Given the description of an element on the screen output the (x, y) to click on. 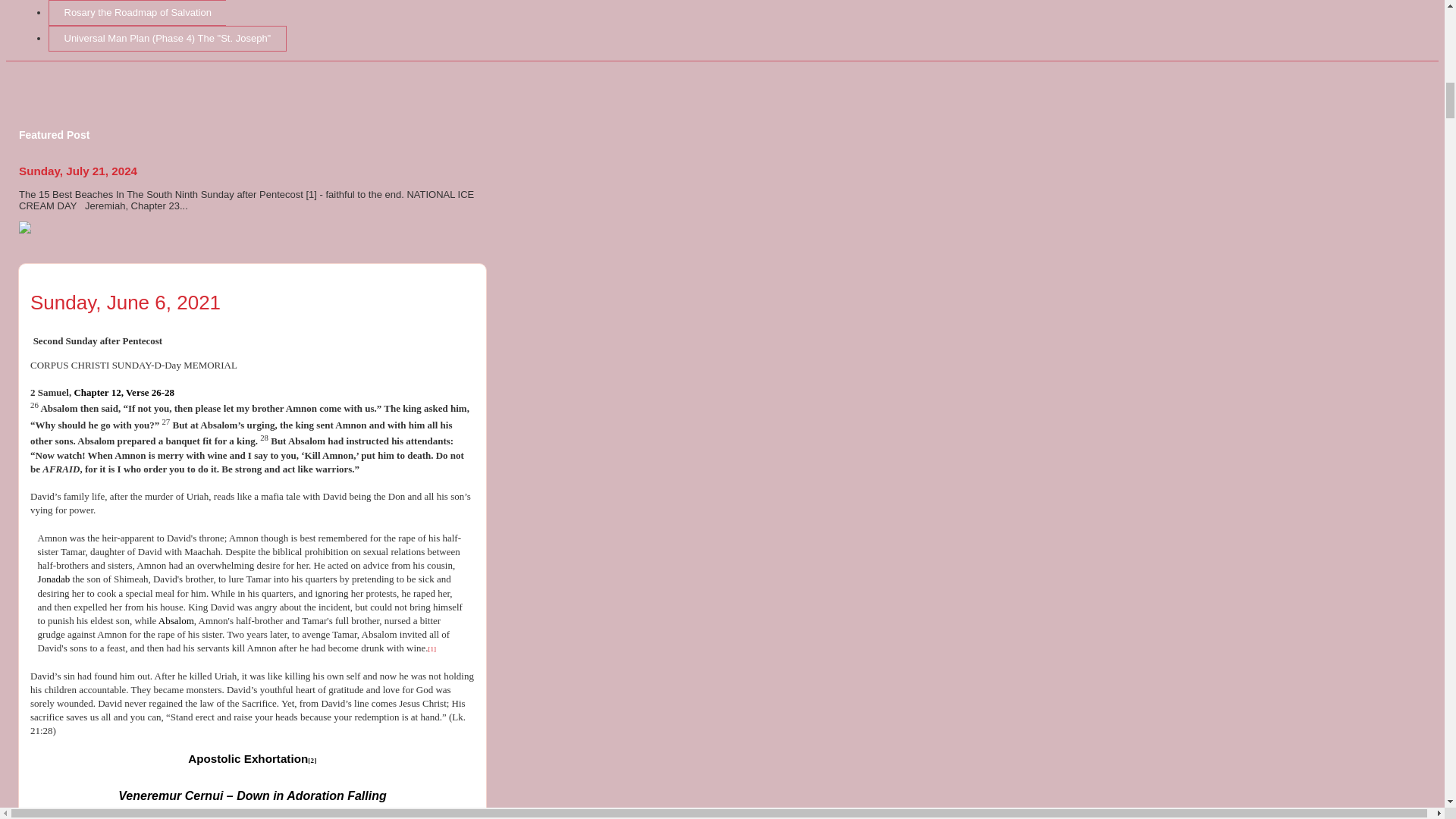
Absalom (175, 620)
Jonadab (53, 578)
